Given the description of an element on the screen output the (x, y) to click on. 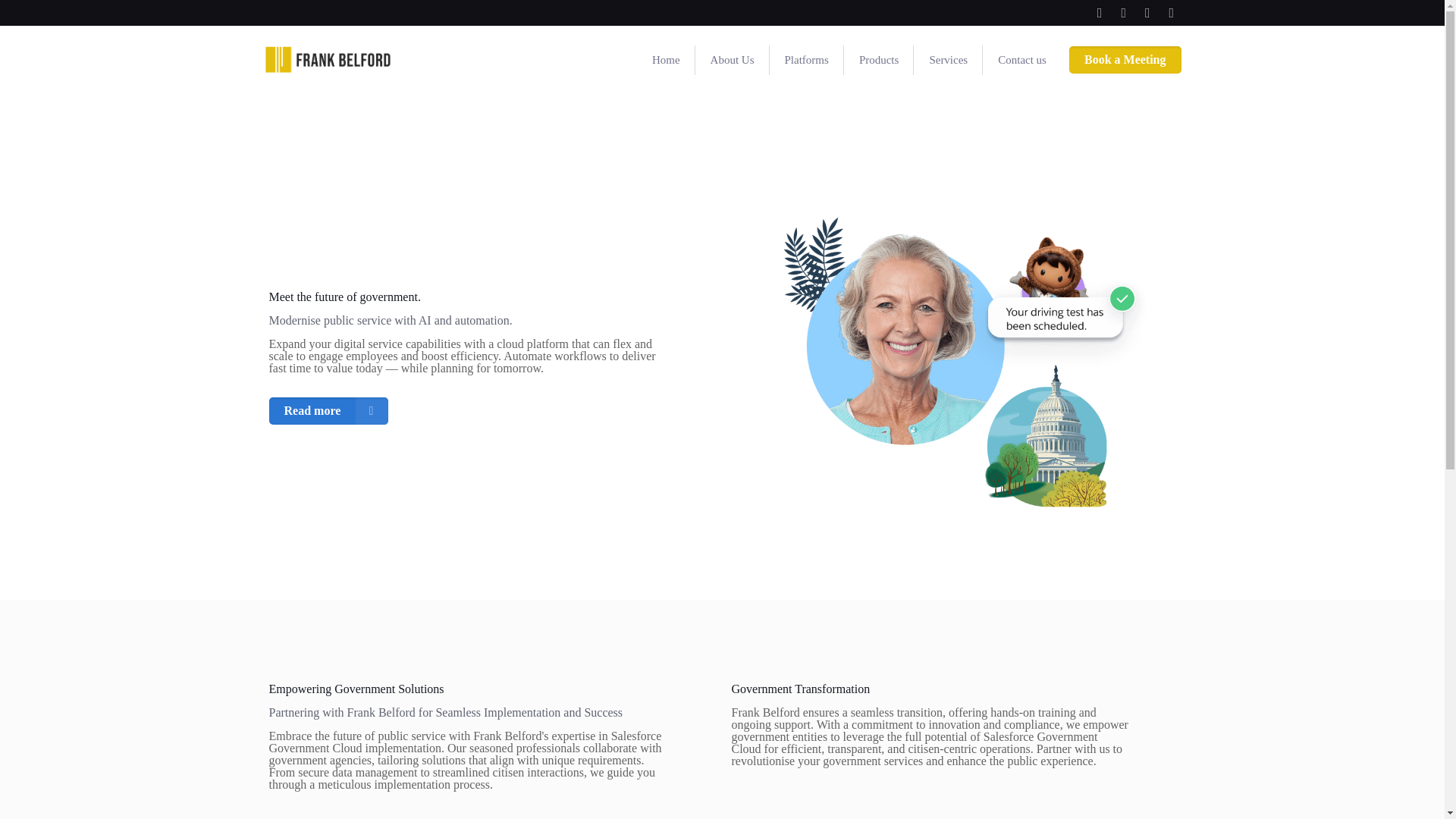
Products (879, 60)
Home (666, 60)
About Us (732, 60)
Platforms (807, 60)
